Given the description of an element on the screen output the (x, y) to click on. 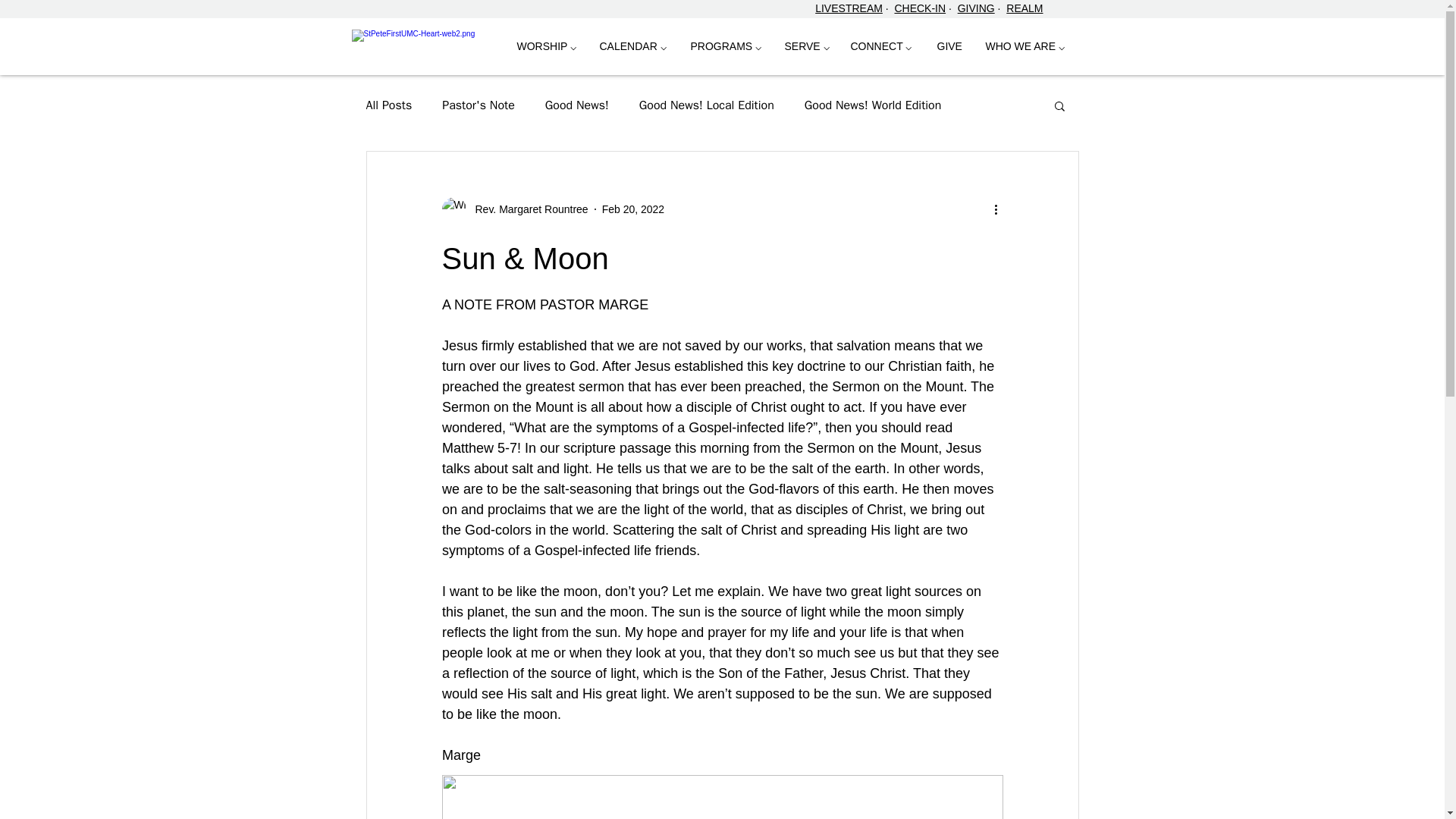
Rev. Margaret Rountree (526, 209)
REALM (1024, 8)
Feb 20, 2022 (633, 209)
CHECK-IN (918, 8)
StPeteFirst-Heart-web.png (428, 44)
GIVING (976, 8)
LIVESTREAM (848, 8)
